Given the description of an element on the screen output the (x, y) to click on. 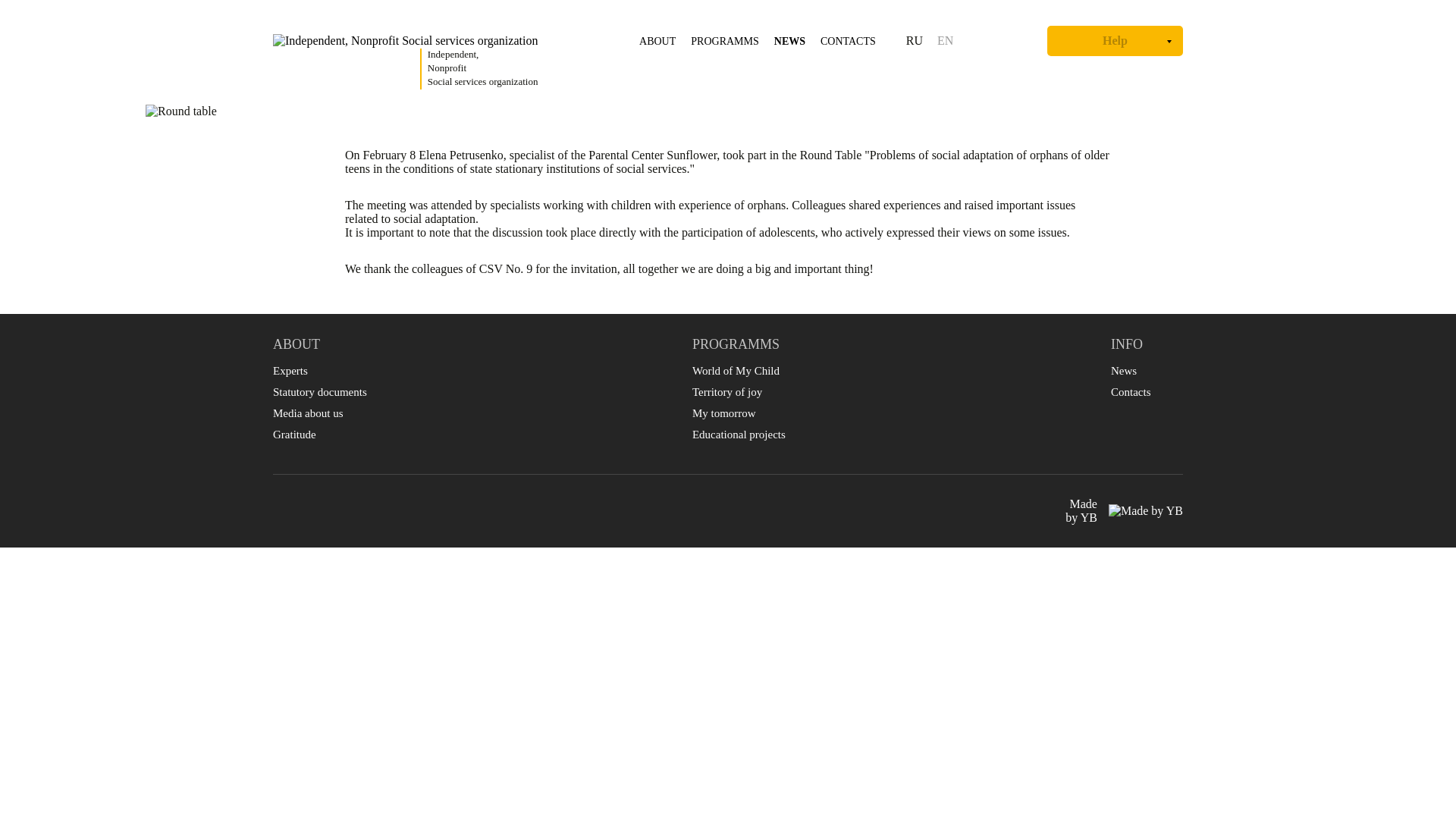
Media about us (307, 413)
Experts (290, 370)
Statutory documents (319, 391)
News (1123, 370)
My tomorrow (724, 413)
PROGRAMMS (724, 41)
NEWS (789, 41)
Help (1123, 510)
Gratitude (1114, 40)
ABOUT (294, 434)
Territory of joy (657, 41)
World of My Child (727, 391)
Educational projects (735, 370)
Contacts (739, 434)
